Given the description of an element on the screen output the (x, y) to click on. 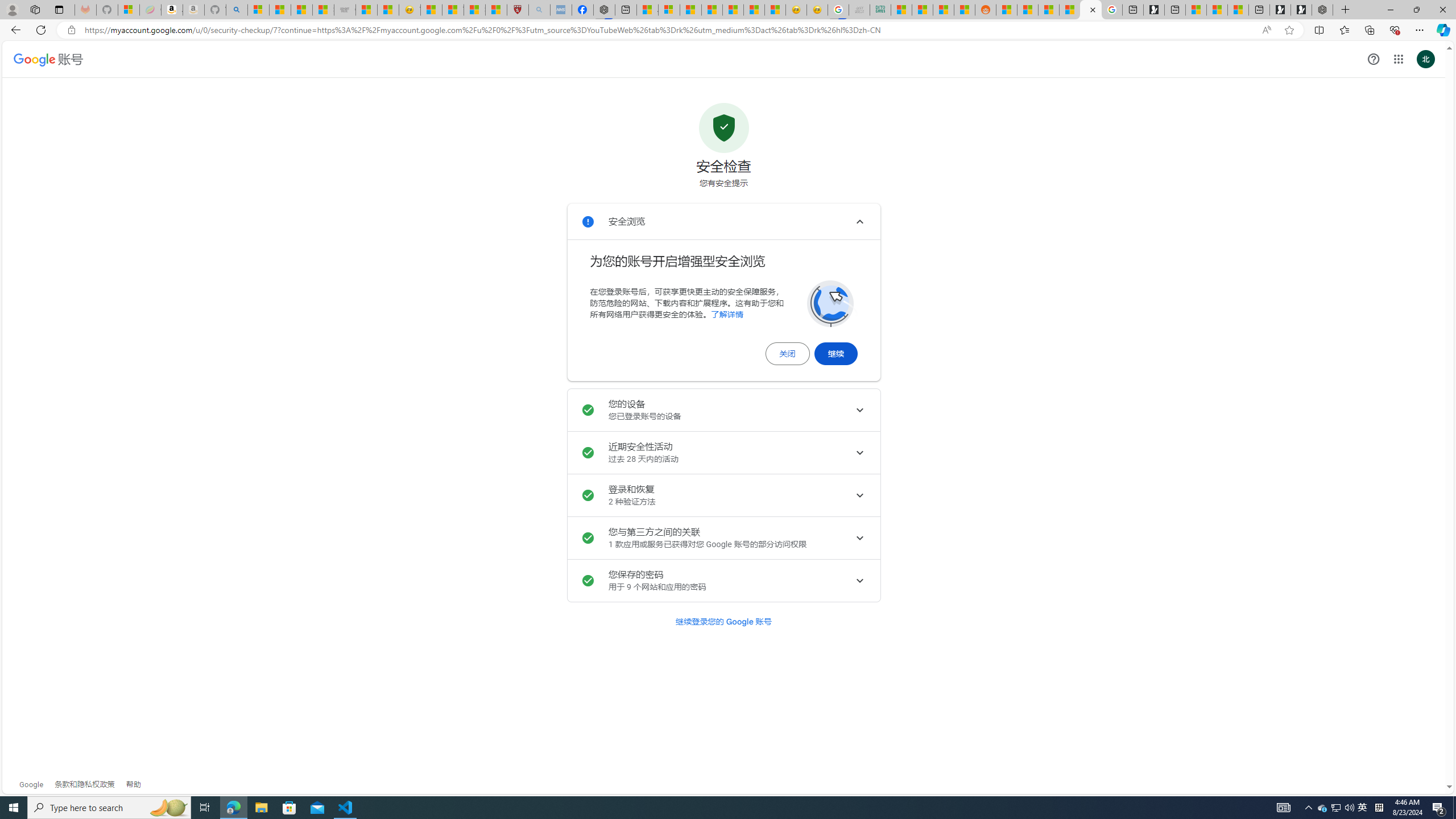
Fitness - MSN (732, 9)
R******* | Trusted Community Engagement and Contributions (1006, 9)
Science - MSN (474, 9)
12 Popular Science Lies that Must be Corrected (496, 9)
